Given the description of an element on the screen output the (x, y) to click on. 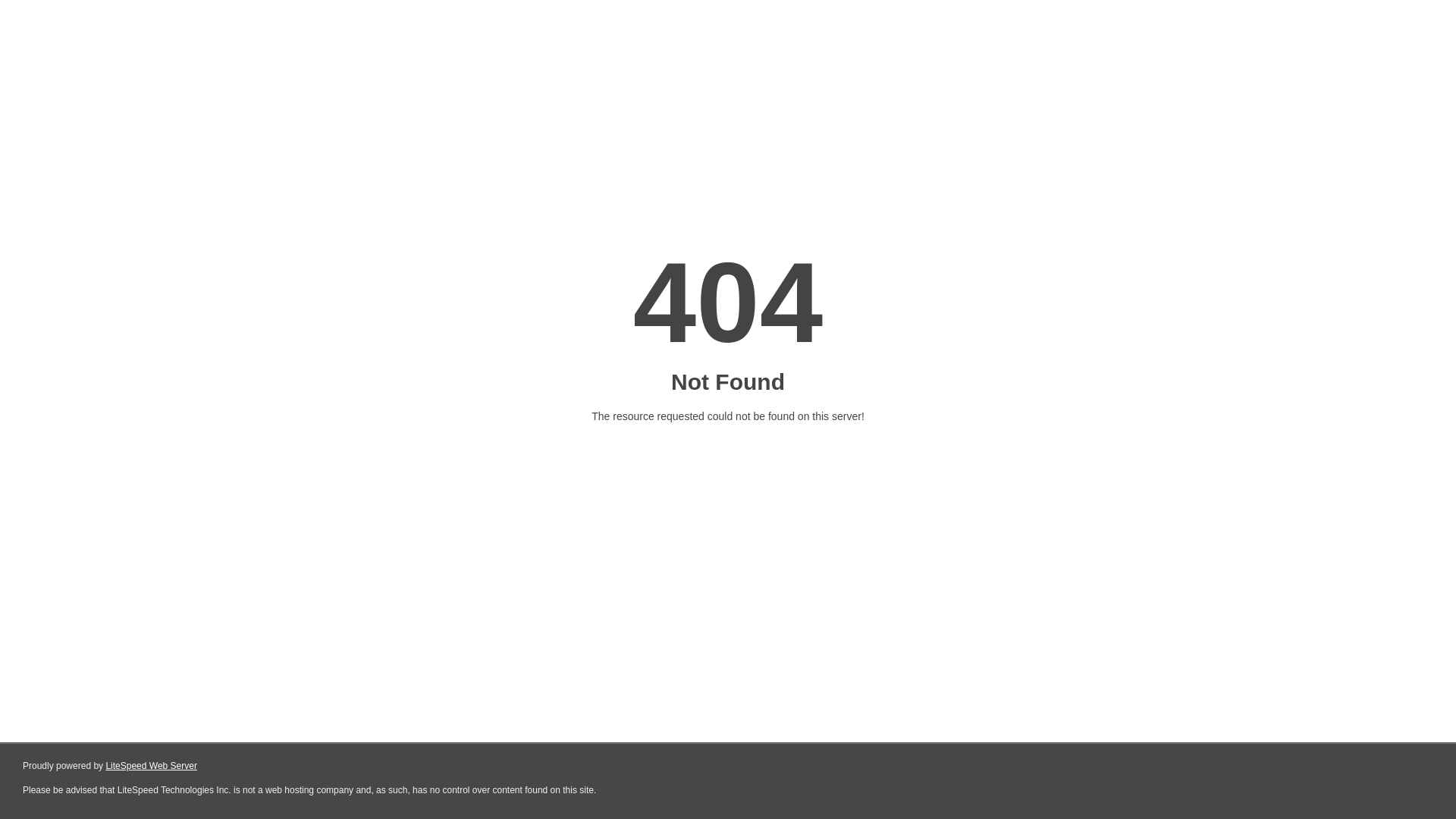
LiteSpeed Web Server Element type: text (151, 765)
